Given the description of an element on the screen output the (x, y) to click on. 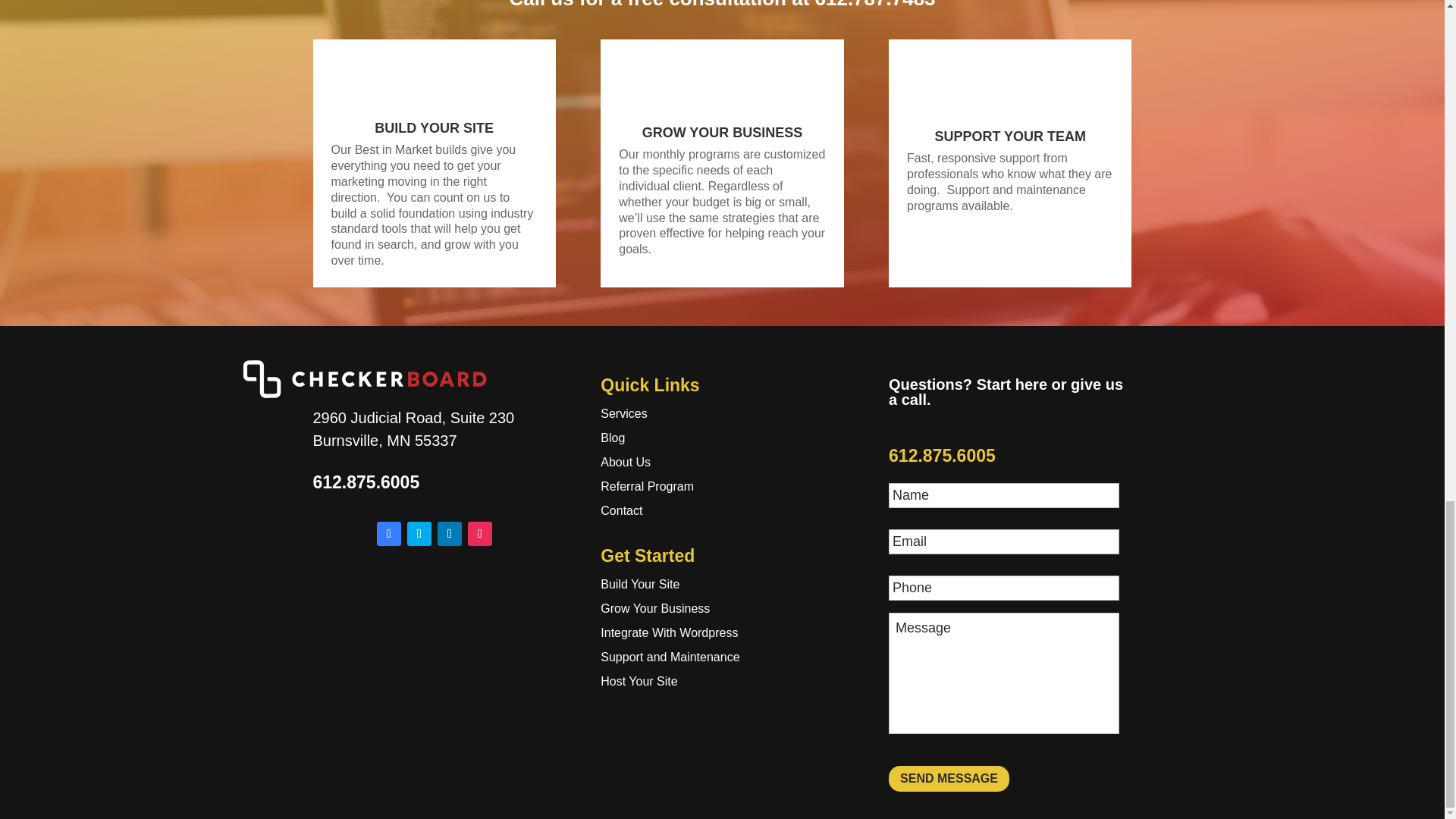
Follow on Facebook (389, 533)
SEND MESSAGE (948, 778)
Follow on Twitter (418, 533)
Follow on LinkedIn (449, 533)
Follow on Instagram (479, 533)
